Given the description of an element on the screen output the (x, y) to click on. 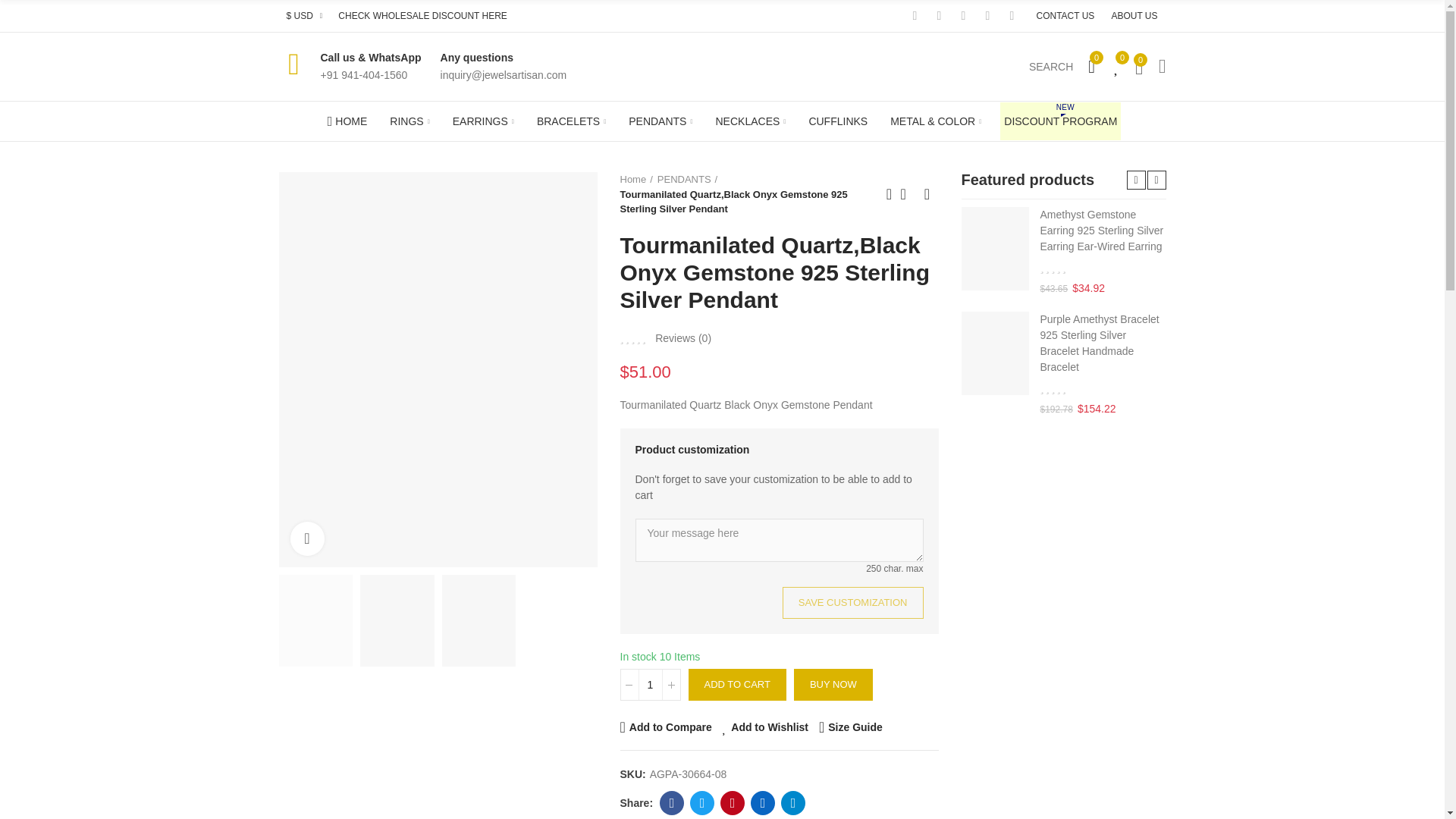
EARRINGS (483, 120)
ABOUT US (1134, 15)
EARRINGS (483, 120)
Home (347, 121)
RINGS (408, 120)
HOME (347, 121)
RINGS (408, 120)
CONTACT US (1064, 15)
CHECK WHOLESALE DISCOUNT HERE (421, 15)
SEARCH (1051, 66)
